Given the description of an element on the screen output the (x, y) to click on. 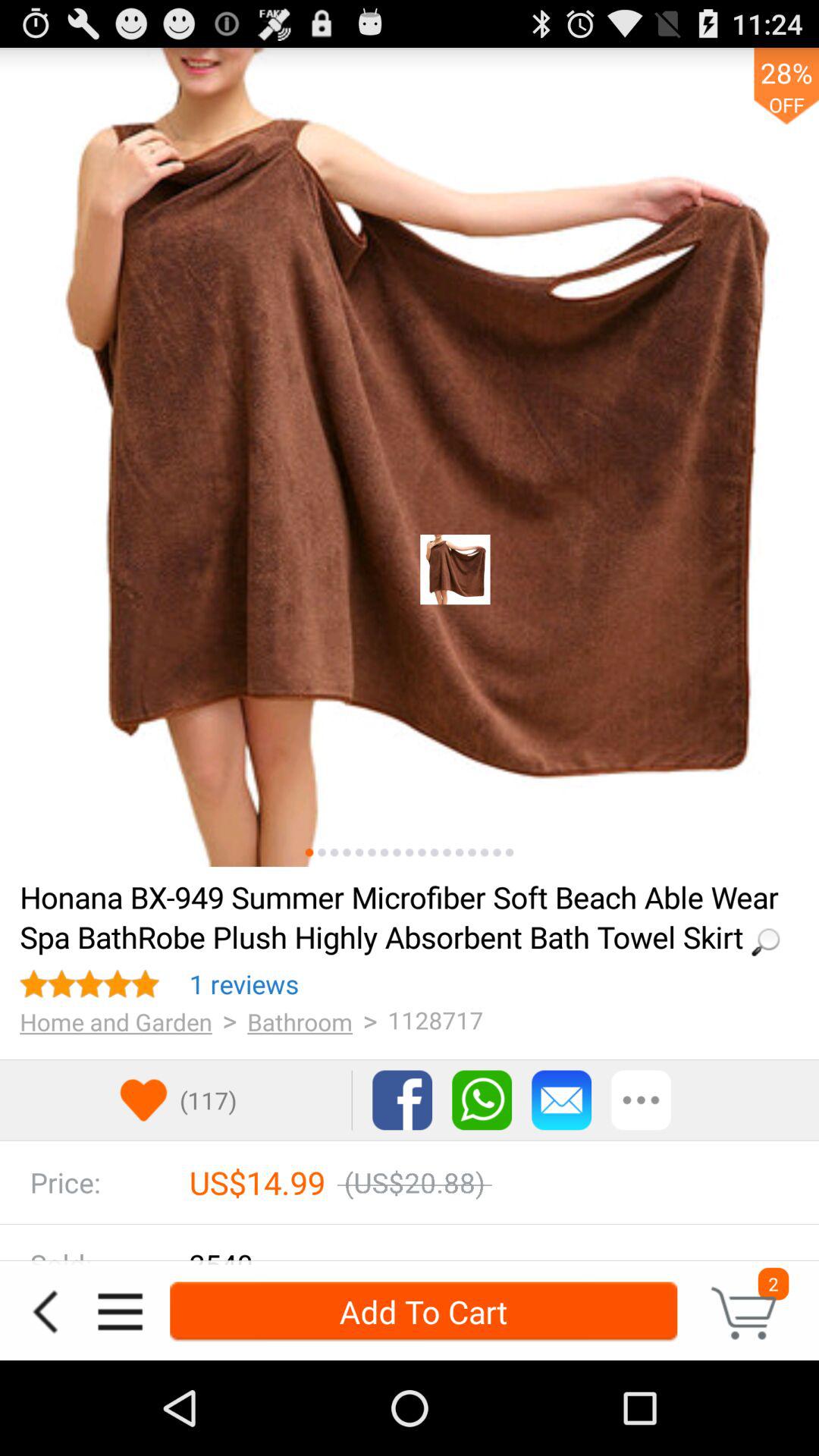
select image option (346, 852)
